Given the description of an element on the screen output the (x, y) to click on. 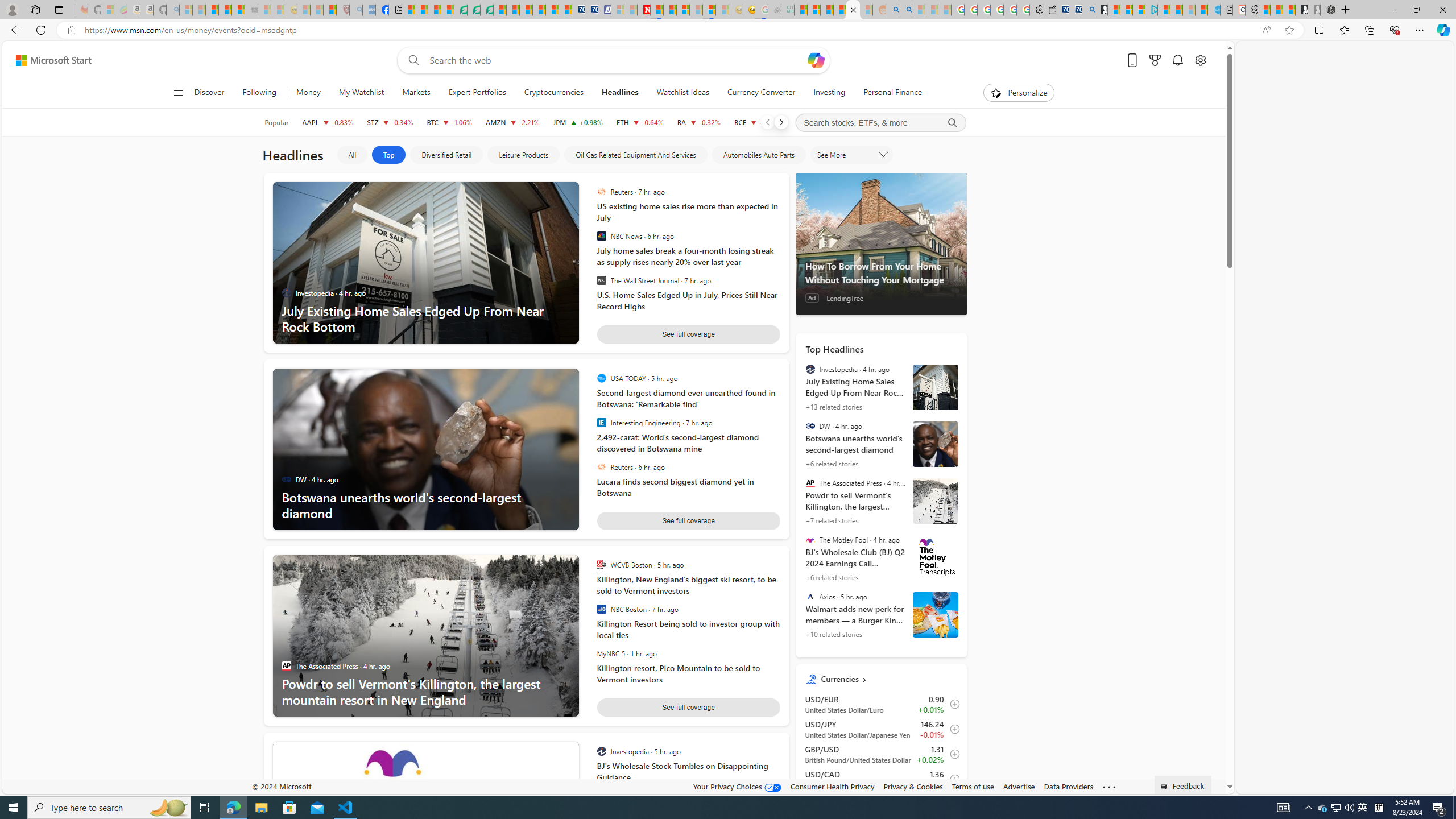
Terms of use (973, 786)
Reuters 6 hr. ago (685, 466)
Microsoft Start Gaming (1101, 9)
MyNBC 5 1 hr. ago (678, 653)
The Wall Street Journal (600, 280)
Enter your search term (617, 59)
Next (780, 122)
Cheap Car Rentals - Save70.com (1075, 9)
